Given the description of an element on the screen output the (x, y) to click on. 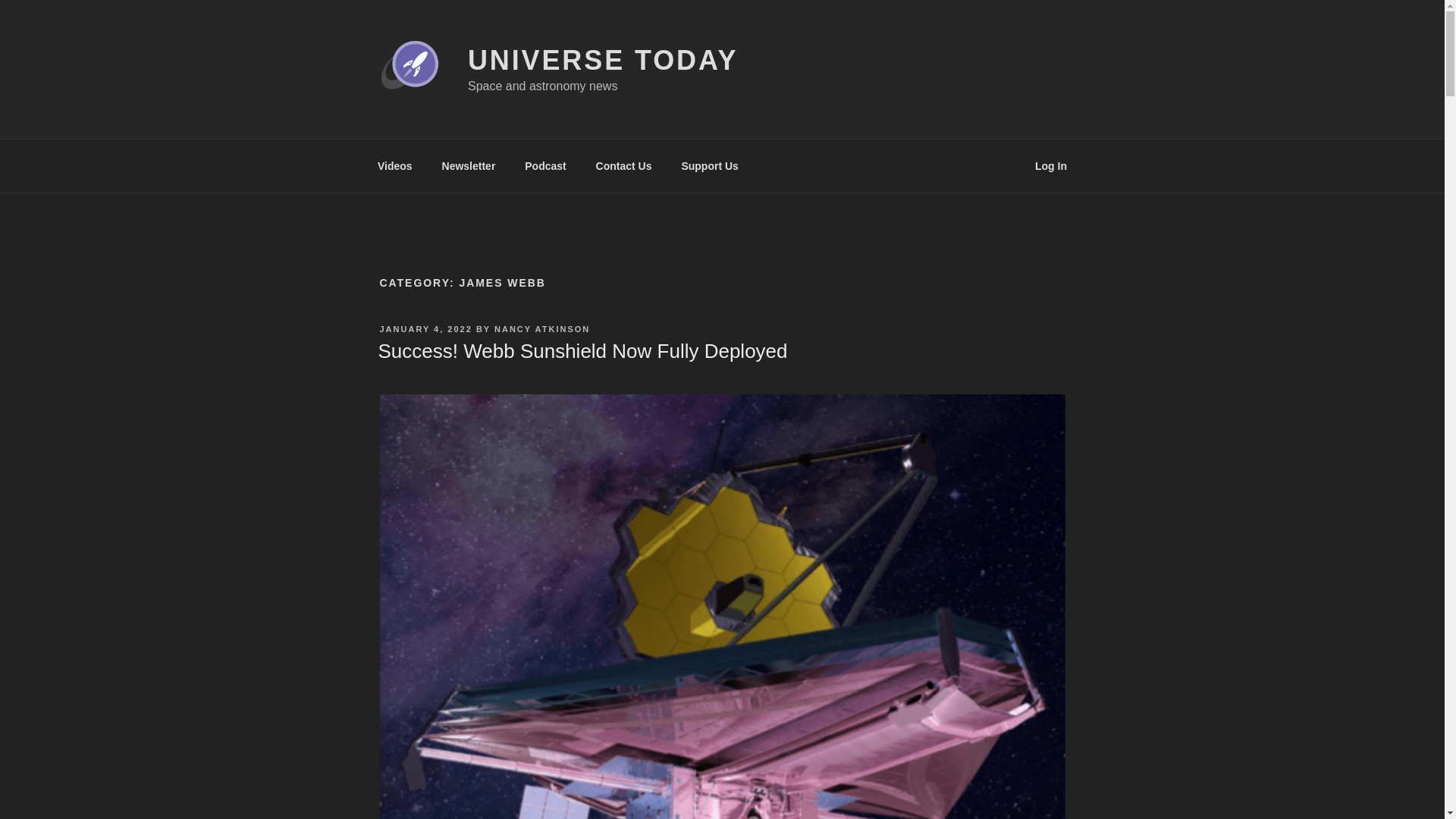
UNIVERSE TODAY (602, 60)
Newsletter (468, 165)
Contact Us (623, 165)
Log In (1051, 165)
Podcast (545, 165)
Videos (394, 165)
JANUARY 4, 2022 (424, 328)
NANCY ATKINSON (542, 328)
Success! Webb Sunshield Now Fully Deployed (582, 350)
Support Us (709, 165)
